Given the description of an element on the screen output the (x, y) to click on. 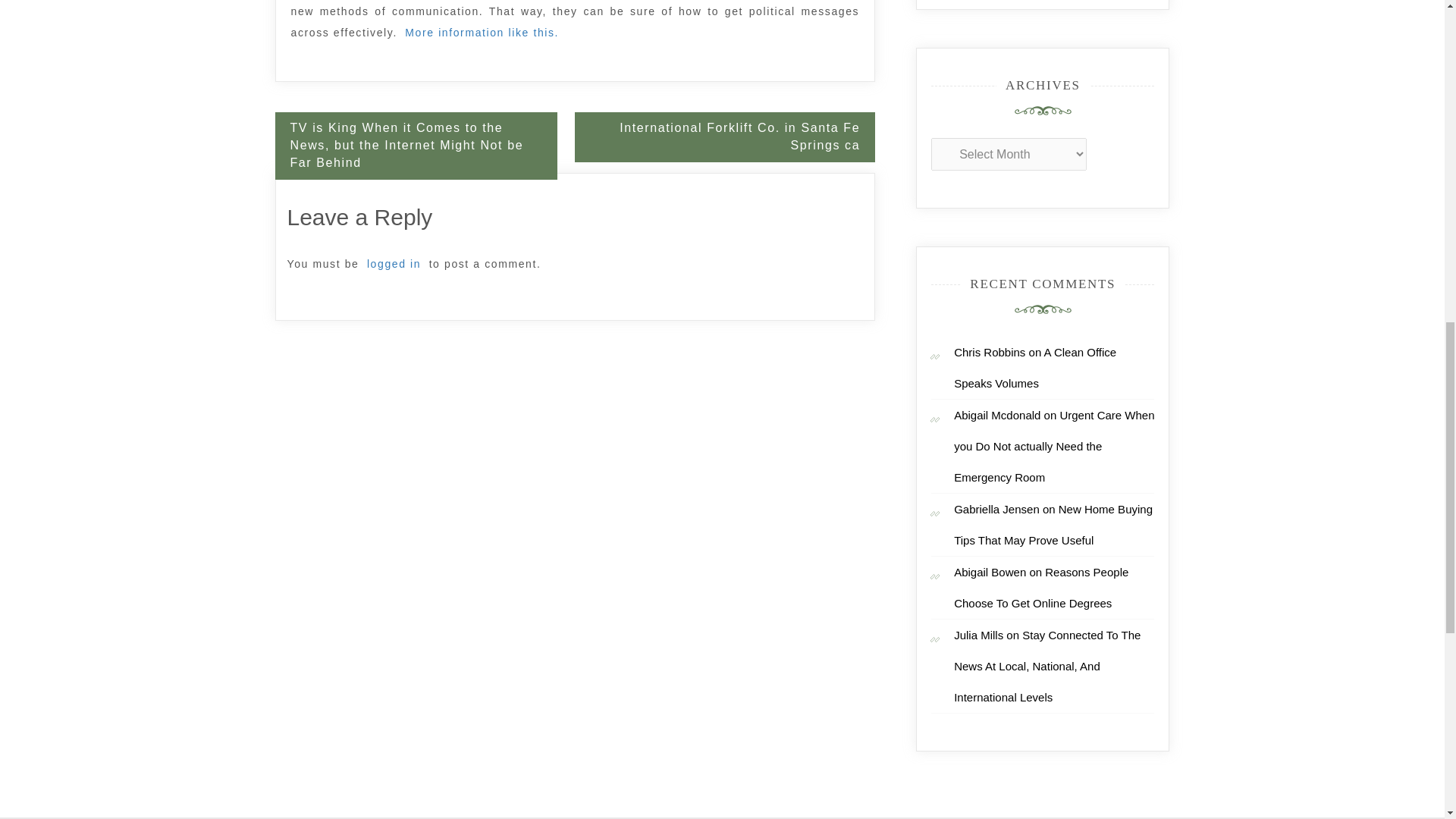
Reasons People Choose To Get Online Degrees (1040, 587)
Julia Mills (978, 634)
Chris Robbins (989, 351)
Urgent Care When you Do Not actually Need the Emergency Room (1053, 446)
Here you go (481, 32)
International Forklift Co. in Santa Fe Springs ca (725, 137)
New Home Buying Tips That May Prove Useful (1053, 524)
More information like this. (481, 32)
logged in (393, 263)
Gabriella Jensen (996, 508)
A Clean Office Speaks Volumes (1034, 367)
